Given the description of an element on the screen output the (x, y) to click on. 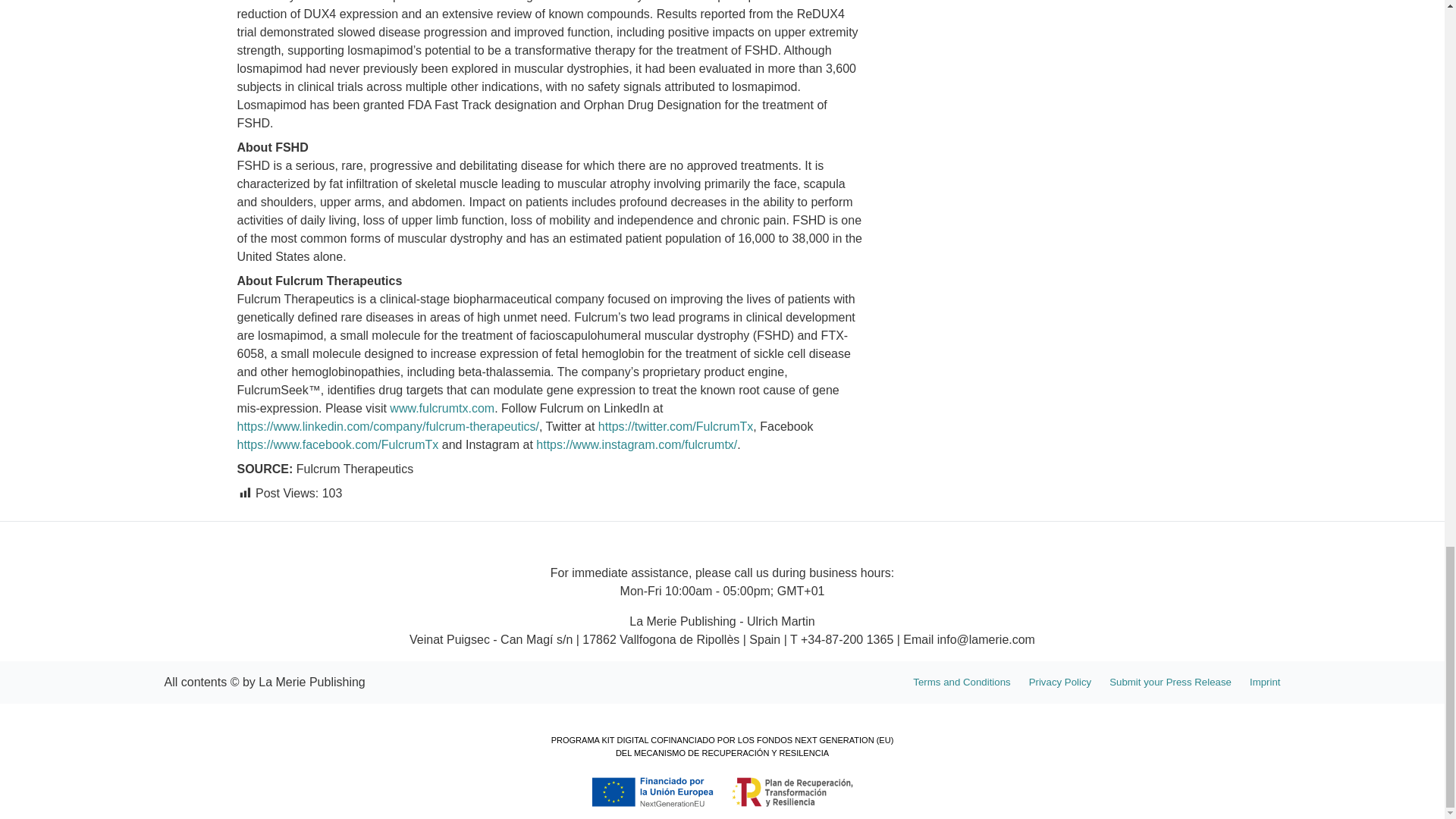
www.fulcrumtx.com (442, 408)
